Given the description of an element on the screen output the (x, y) to click on. 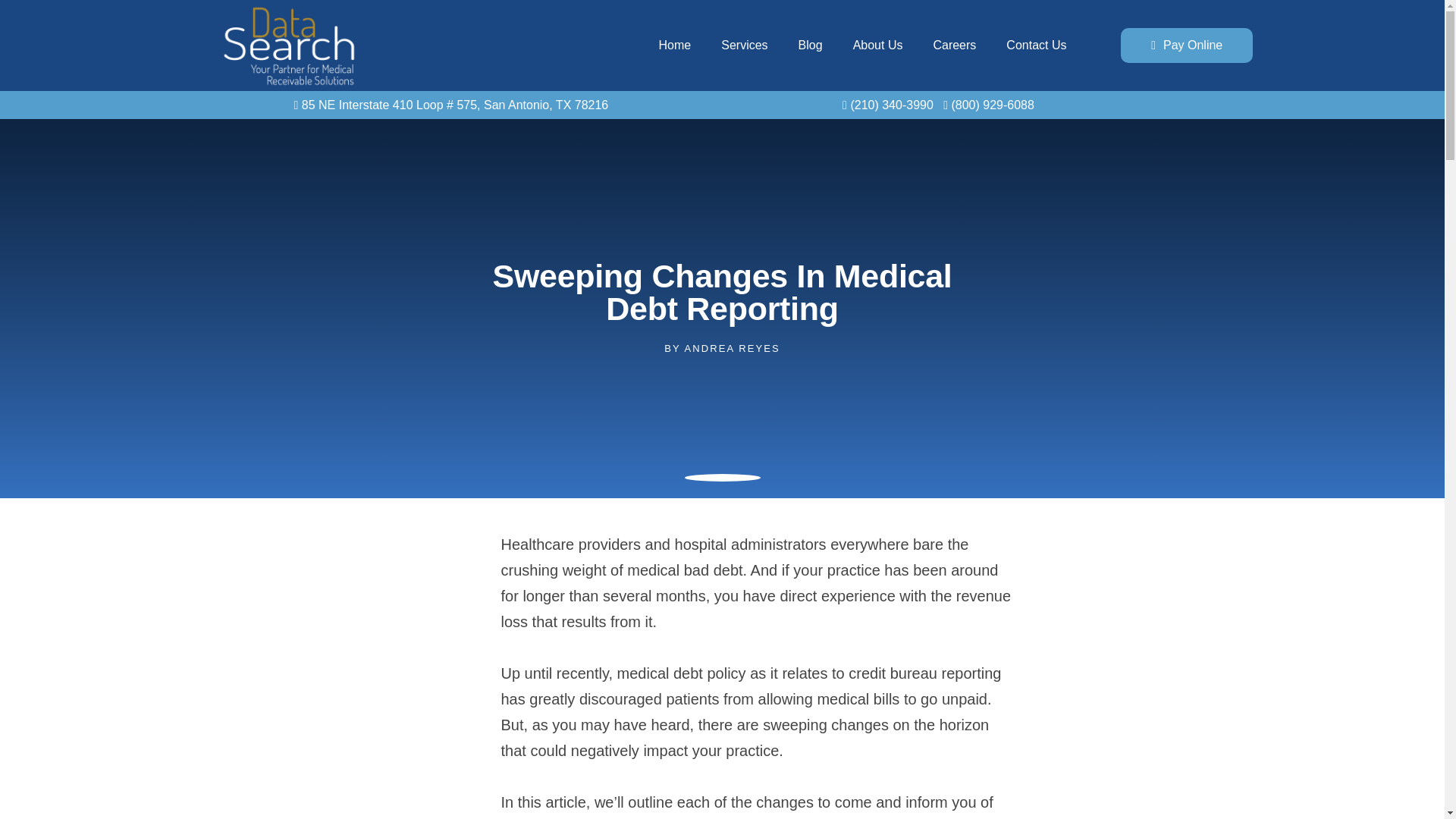
Services (744, 45)
Careers (954, 45)
Contact Us (1036, 45)
Pay Online (1186, 45)
About Us (878, 45)
Home (674, 45)
Blog (810, 45)
BY ANDREA REYES (721, 348)
